Given the description of an element on the screen output the (x, y) to click on. 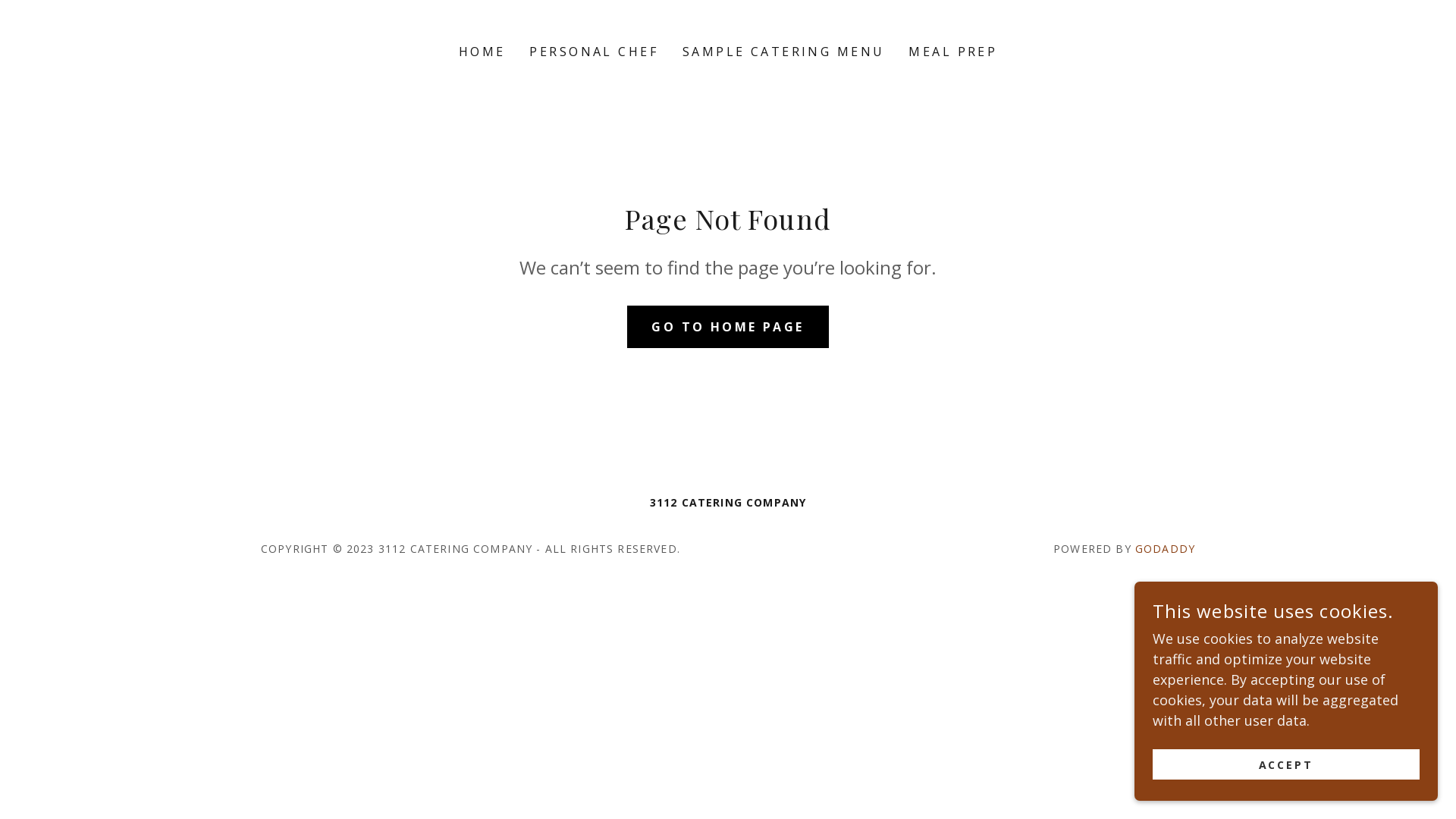
MEAL PREP Element type: text (952, 51)
ACCEPT Element type: text (1285, 764)
GO TO HOME PAGE Element type: text (727, 325)
SAMPLE CATERING MENU Element type: text (782, 51)
HOME Element type: text (482, 51)
PERSONAL CHEF Element type: text (593, 51)
GODADDY Element type: text (1165, 548)
